Given the description of an element on the screen output the (x, y) to click on. 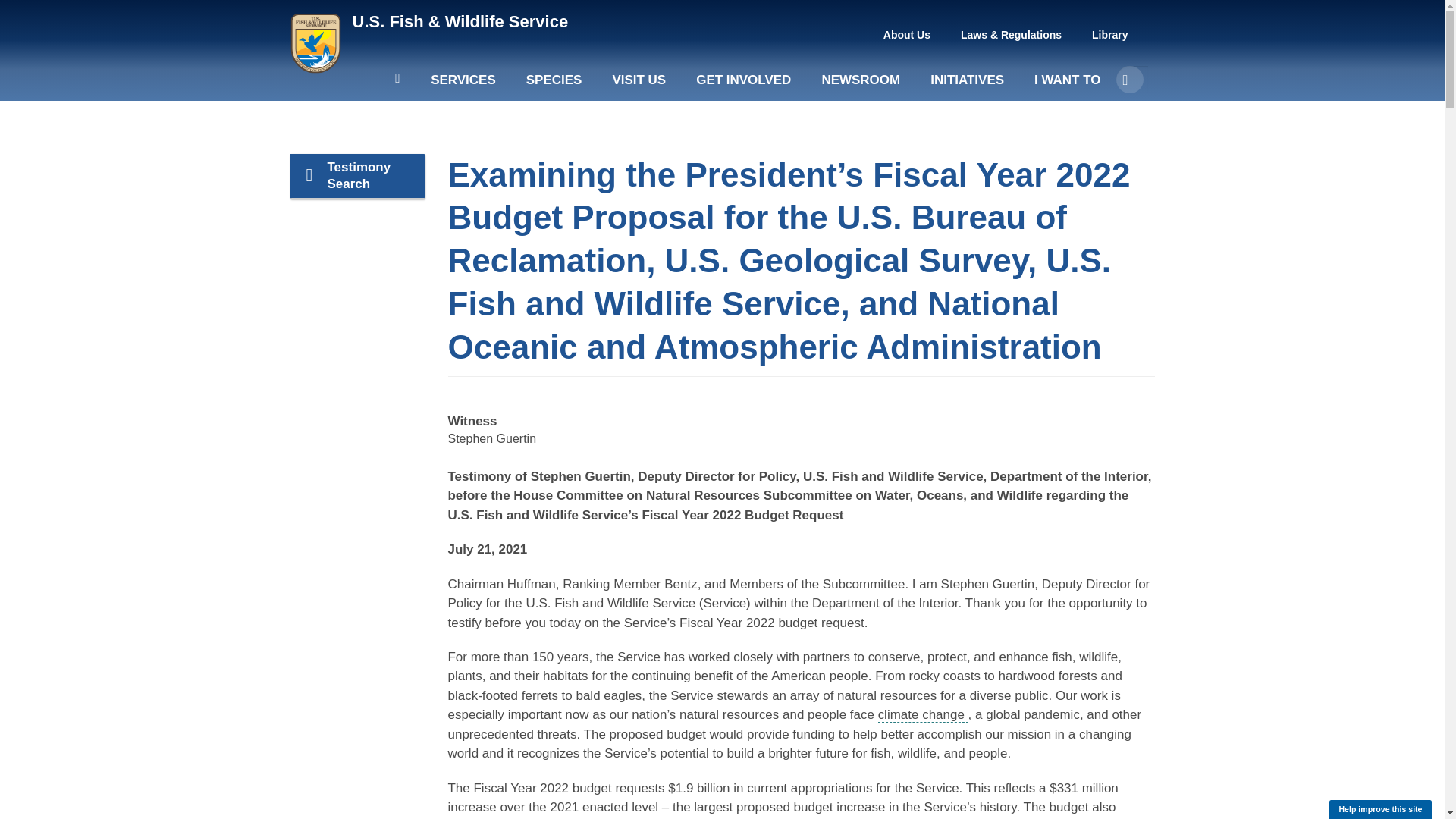
About Us (906, 34)
SERVICES (463, 86)
Access services provided by FWS (463, 86)
Library (1109, 34)
FWS Home (459, 21)
